Given the description of an element on the screen output the (x, y) to click on. 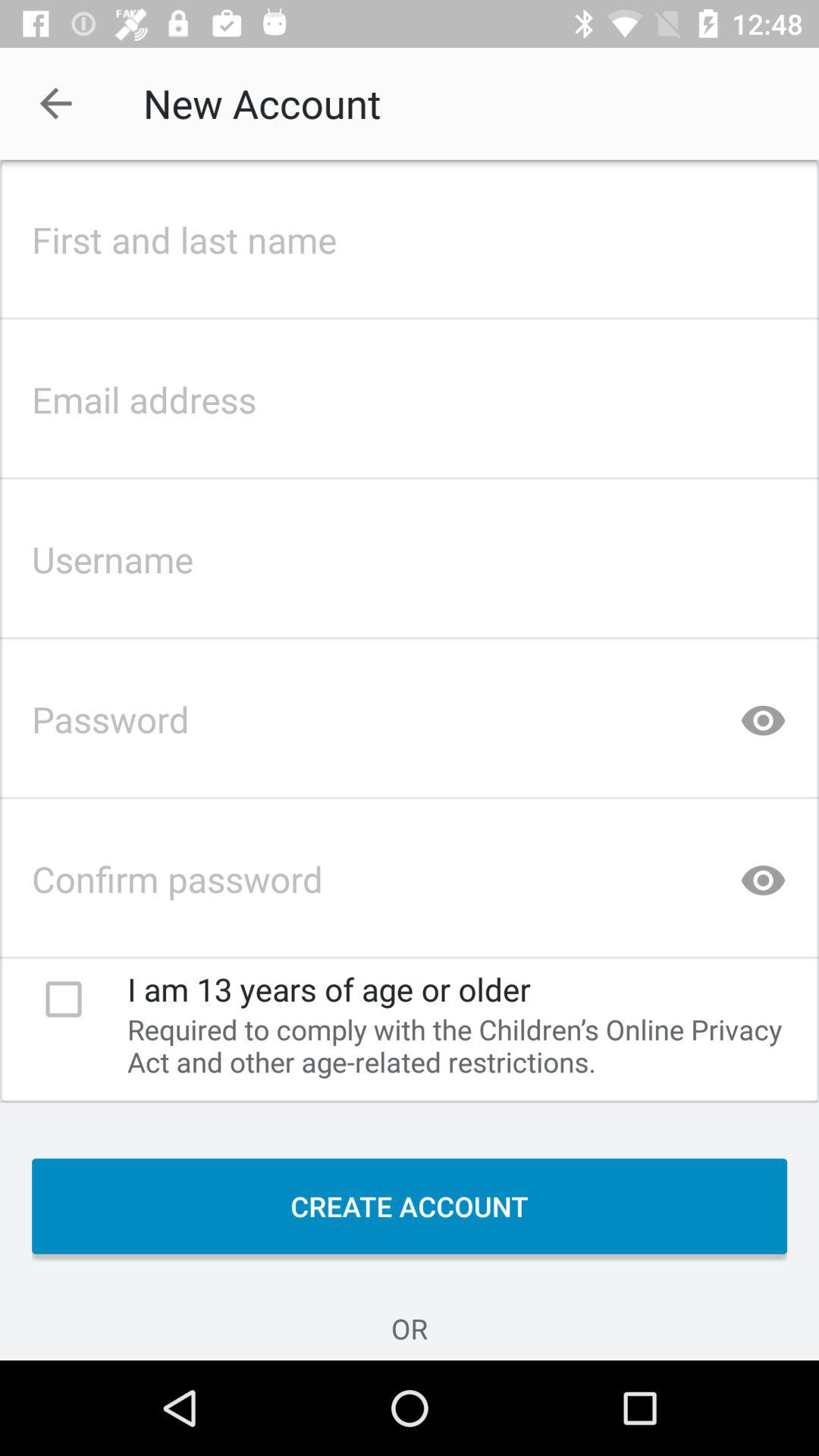
toggle check box (63, 999)
